Given the description of an element on the screen output the (x, y) to click on. 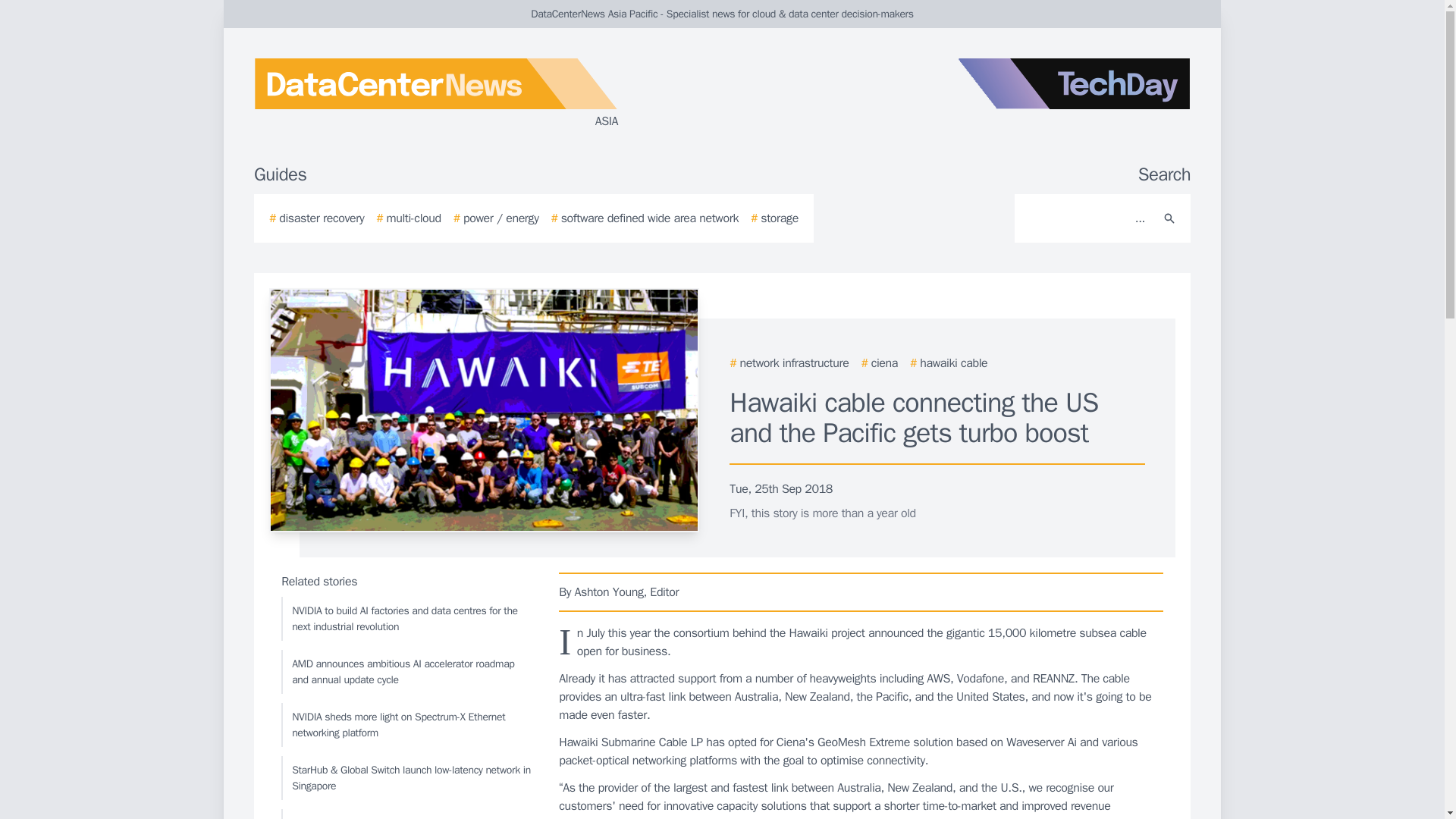
ASIA (435, 94)
By Ashton Young, Editor (861, 592)
